Given the description of an element on the screen output the (x, y) to click on. 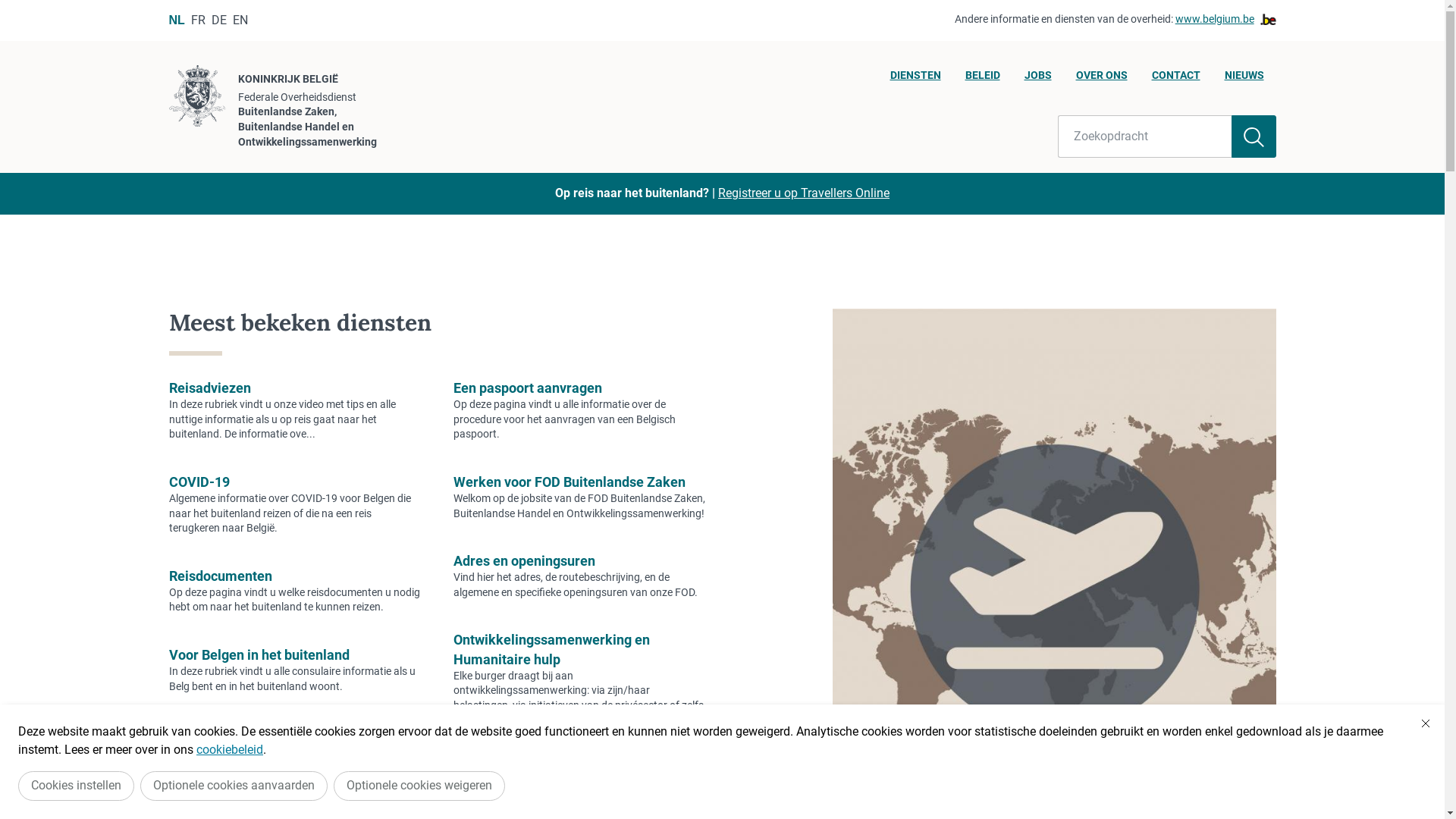
Voor Belgen in het buitenland Element type: text (258, 654)
Adres en openingsuren Element type: text (524, 560)
Optionele cookies weigeren Element type: text (419, 785)
Reisdocumenten Element type: text (219, 575)
DE Element type: text (218, 19)
www.belgium.be Element type: text (1225, 19)
Skip to main content Element type: text (7, 4)
Cookies instellen Element type: text (76, 785)
Ontwikkelingssamenwerking en Humanitaire hulp Element type: text (551, 648)
NL Element type: text (176, 19)
Werken voor FOD Buitenlandse Zaken Element type: text (569, 481)
Protocol Element type: text (479, 767)
Filteren Element type: text (1253, 136)
cookiebeleid Element type: text (229, 749)
Registreer u op Travellers Online Element type: text (803, 192)
Optionele cookies aanvaarden Element type: text (233, 785)
Zoekopdracht Element type: hover (1144, 136)
Sluiten Element type: hover (1425, 723)
Een paspoort aanvragen Element type: text (527, 387)
BELEID Element type: text (981, 79)
FR Element type: text (198, 19)
EN Element type: text (239, 19)
DIENSTEN Element type: text (915, 79)
NIEUWS Element type: text (1243, 79)
Reisadviezen Element type: text (209, 387)
JOBS Element type: text (1037, 79)
OVER ONS Element type: text (1101, 79)
COVID-19 Element type: text (198, 481)
CONTACT Element type: text (1175, 79)
